Given the description of an element on the screen output the (x, y) to click on. 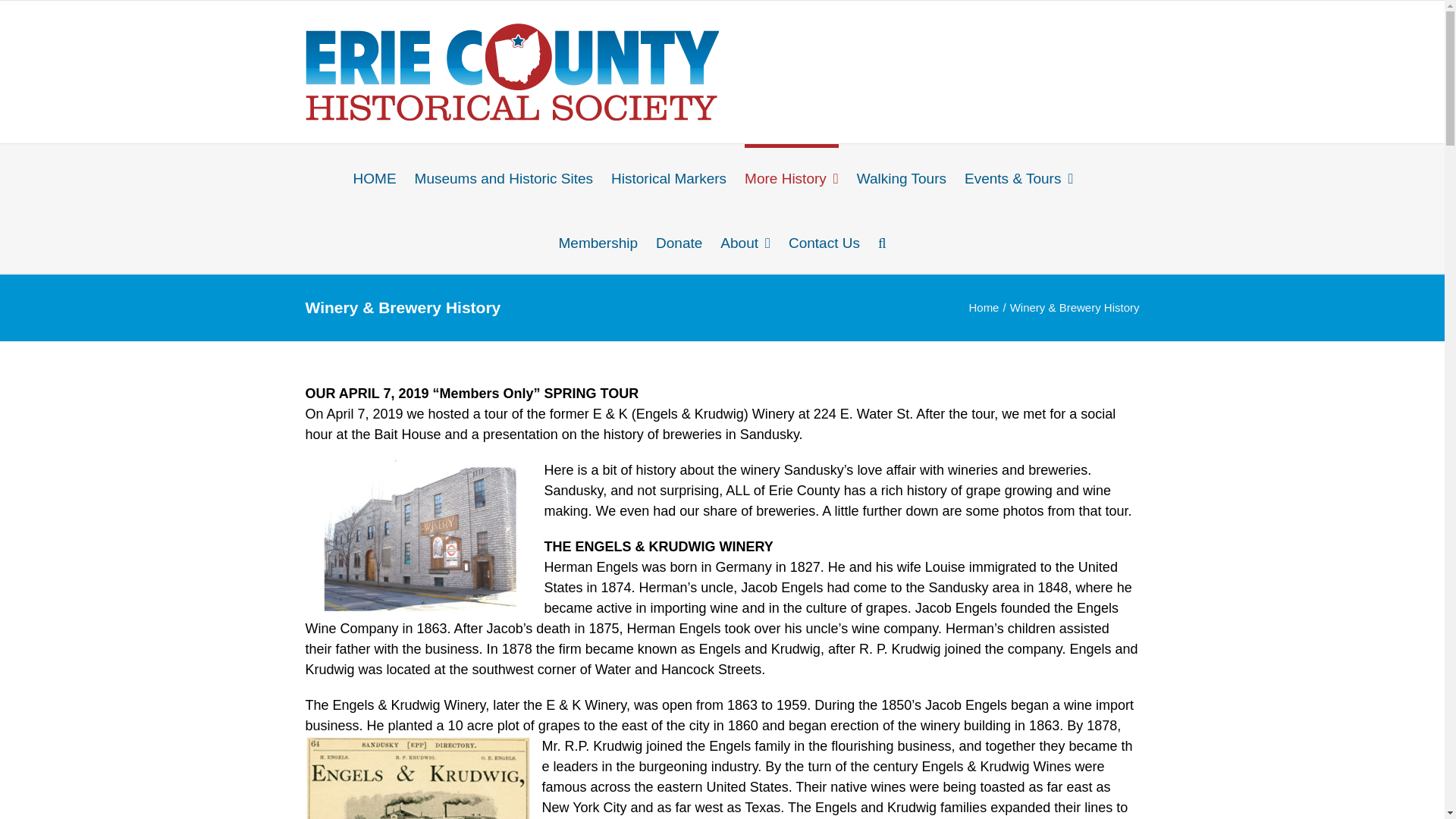
Contact Us (824, 240)
Historical Markers (668, 176)
Walking Tours (901, 176)
More History (791, 176)
Membership (597, 240)
Museums and Historic Sites (503, 176)
